Given the description of an element on the screen output the (x, y) to click on. 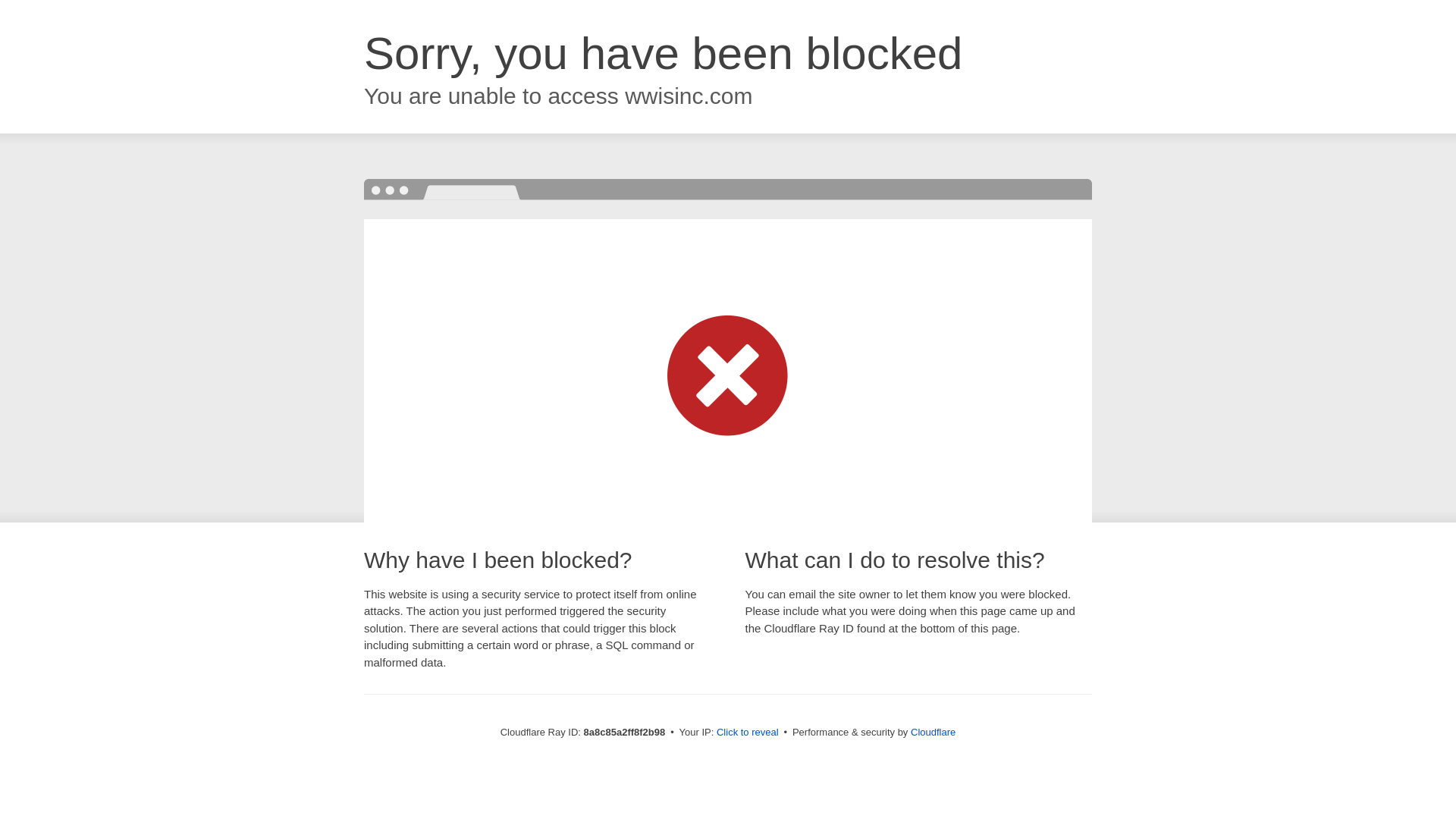
Click to reveal (747, 732)
Cloudflare (933, 731)
